Given the description of an element on the screen output the (x, y) to click on. 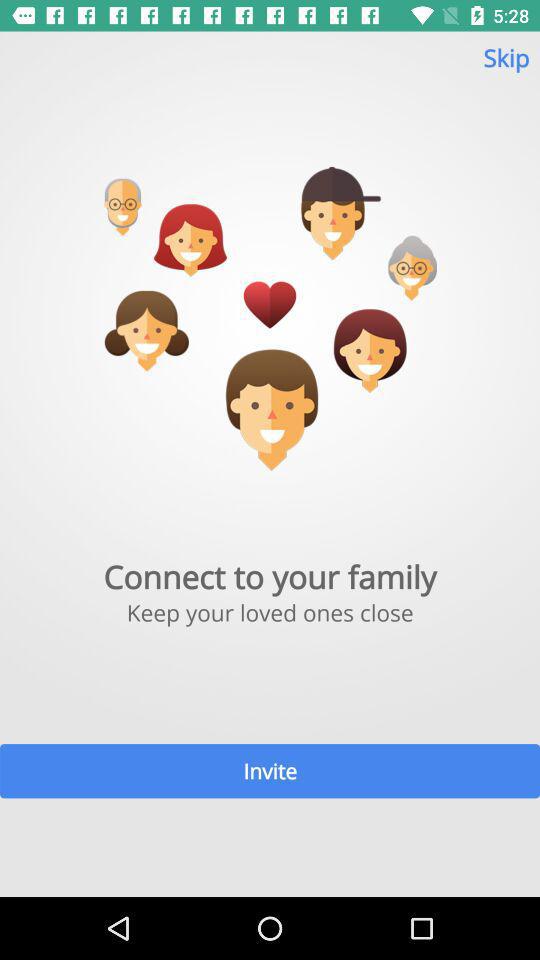
scroll until invite icon (270, 770)
